Given the description of an element on the screen output the (x, y) to click on. 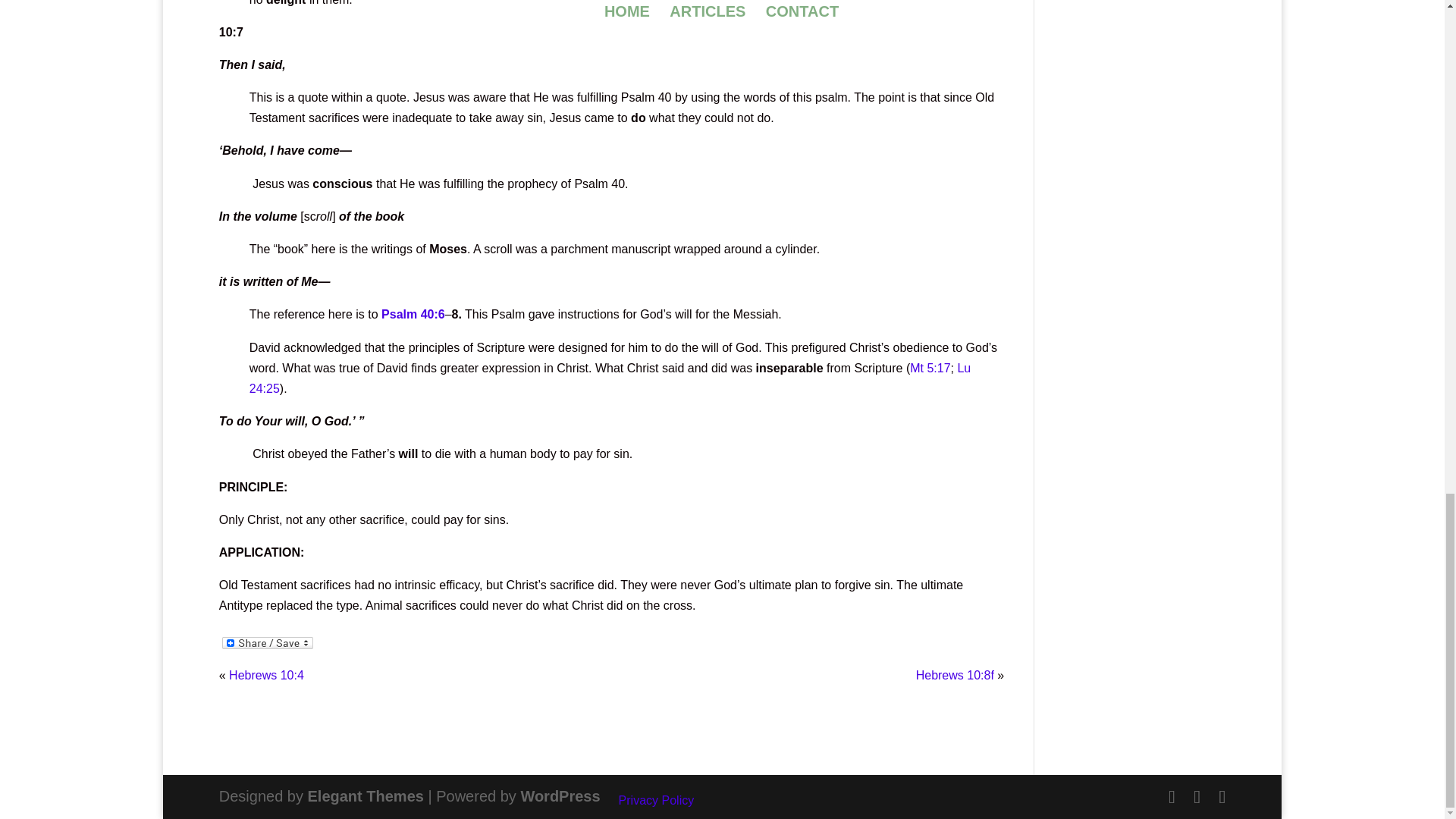
Premium WordPress Themes (365, 795)
Privacy Policy (656, 799)
Psalm 40:6 (413, 314)
Elegant Themes (365, 795)
Hebrews 10:4 (266, 675)
Privacy Policy (656, 799)
WordPress (559, 795)
Lu 24:25 (609, 377)
Mt 5:17 (930, 367)
Hebrews 10:8f (954, 675)
